Given the description of an element on the screen output the (x, y) to click on. 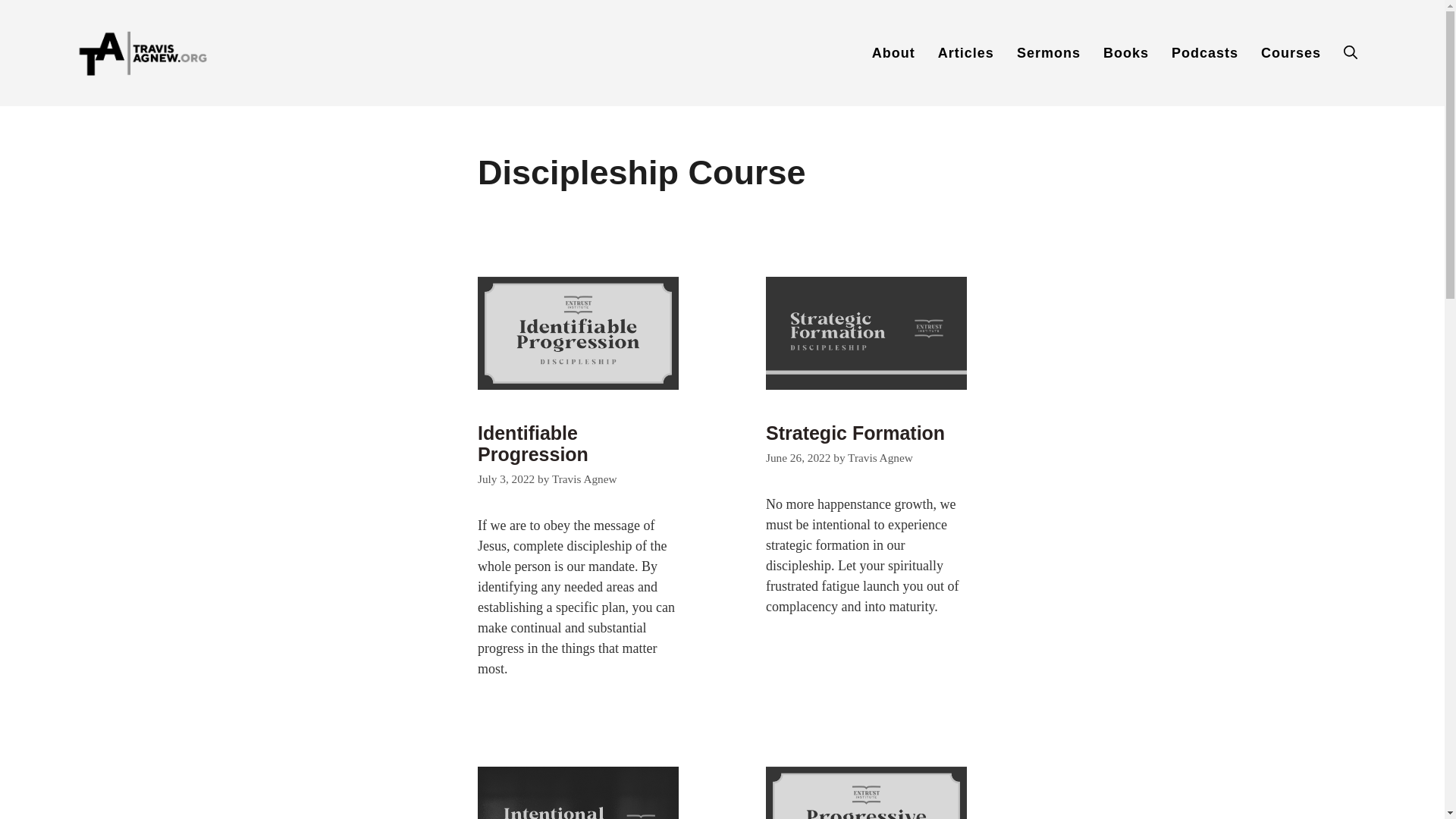
Courses (1290, 52)
Sermons (1049, 52)
Podcasts (1204, 52)
Travis Agnew (879, 457)
Strategic Formation (854, 432)
View all posts by Travis Agnew (879, 457)
Travis Agnew (584, 478)
Books (1126, 52)
View all posts by Travis Agnew (584, 478)
